Given the description of an element on the screen output the (x, y) to click on. 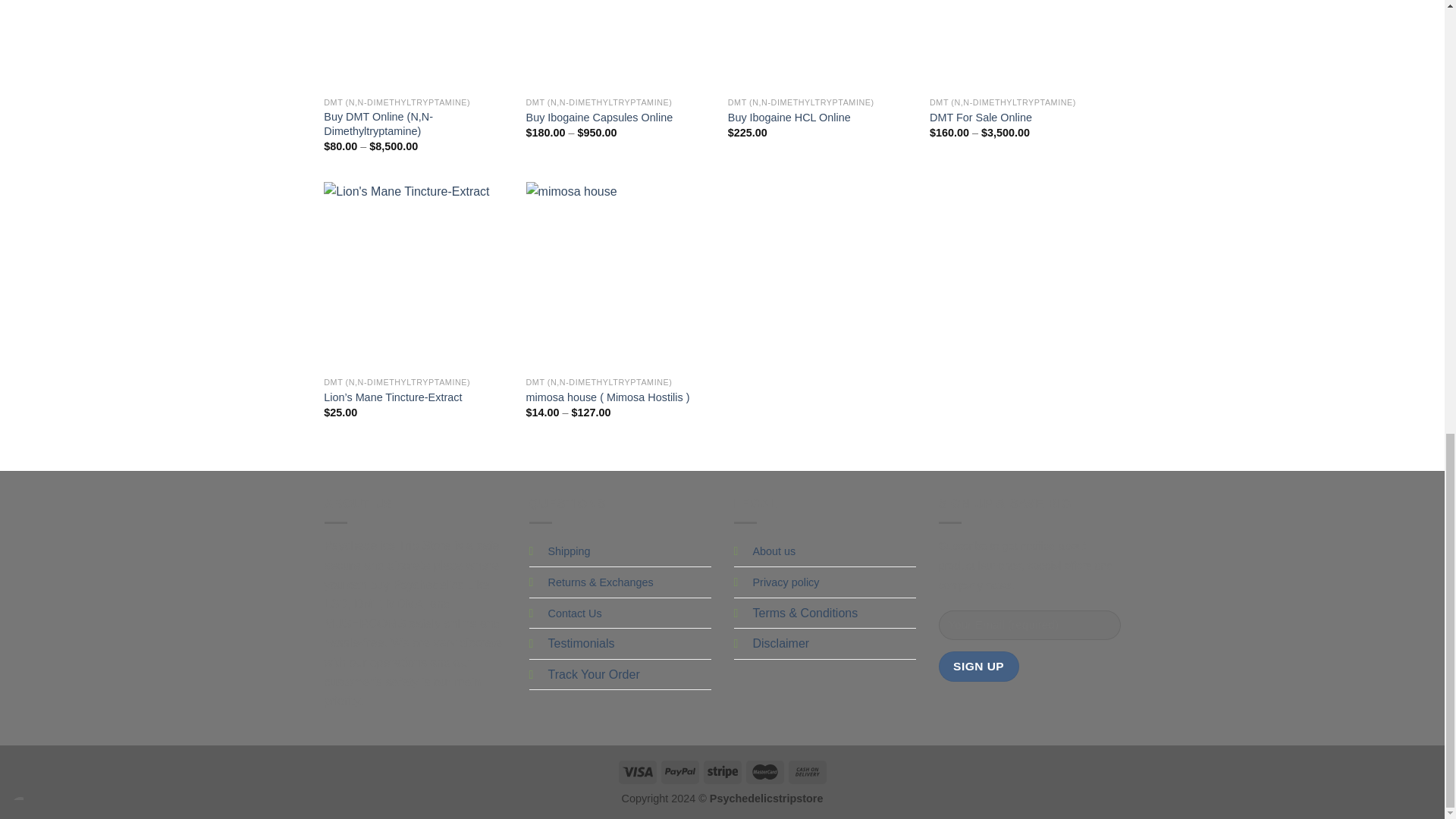
Buy Ibogaine HCL Online (821, 44)
Sign Up (979, 665)
Buy Ibogaine Capsules Online (619, 44)
